Given the description of an element on the screen output the (x, y) to click on. 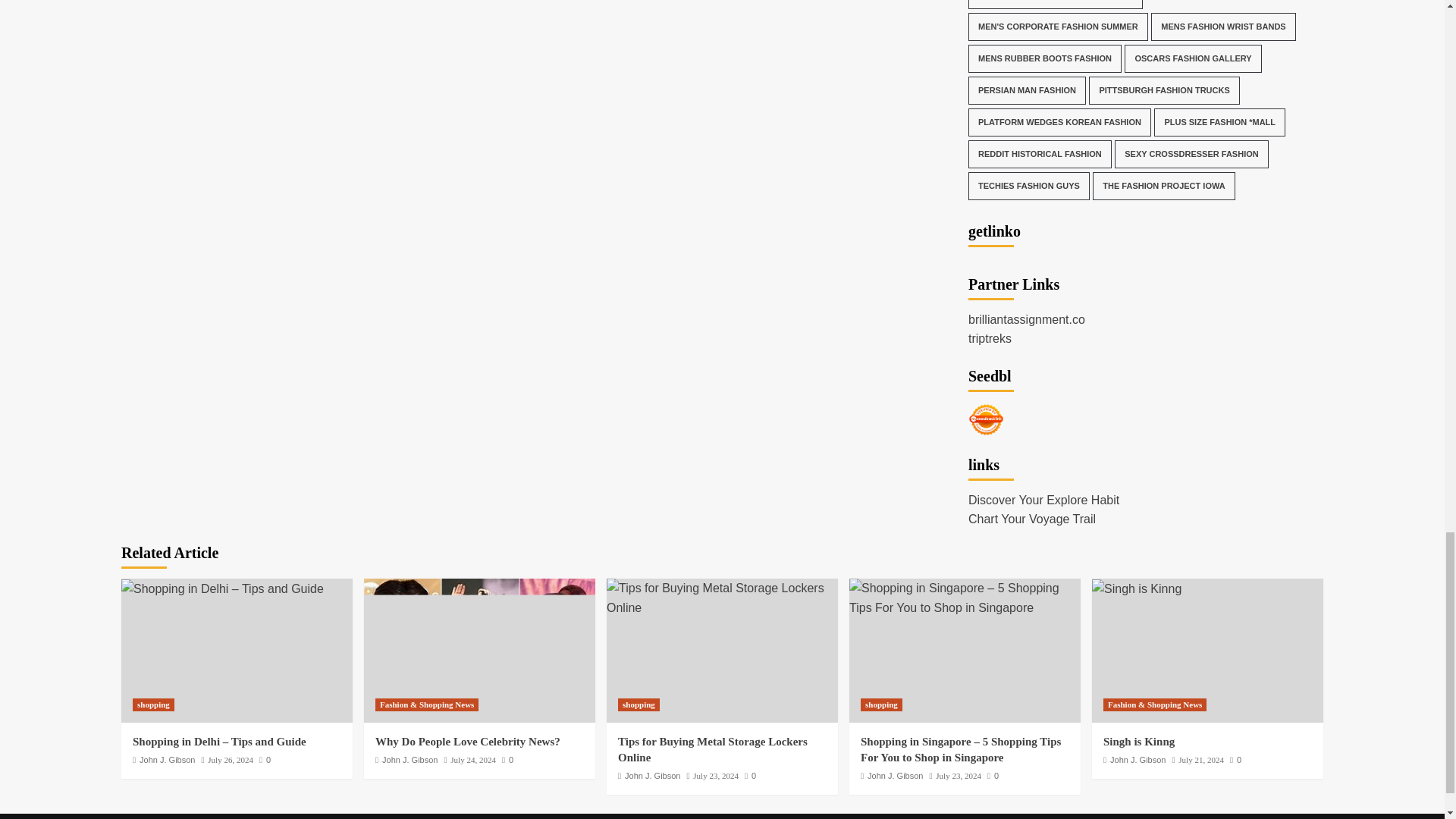
Tips for Buying Metal Storage Lockers Online (722, 597)
Why Do People Love Celebrity News? (479, 650)
Seedbacklink (986, 419)
